Given the description of an element on the screen output the (x, y) to click on. 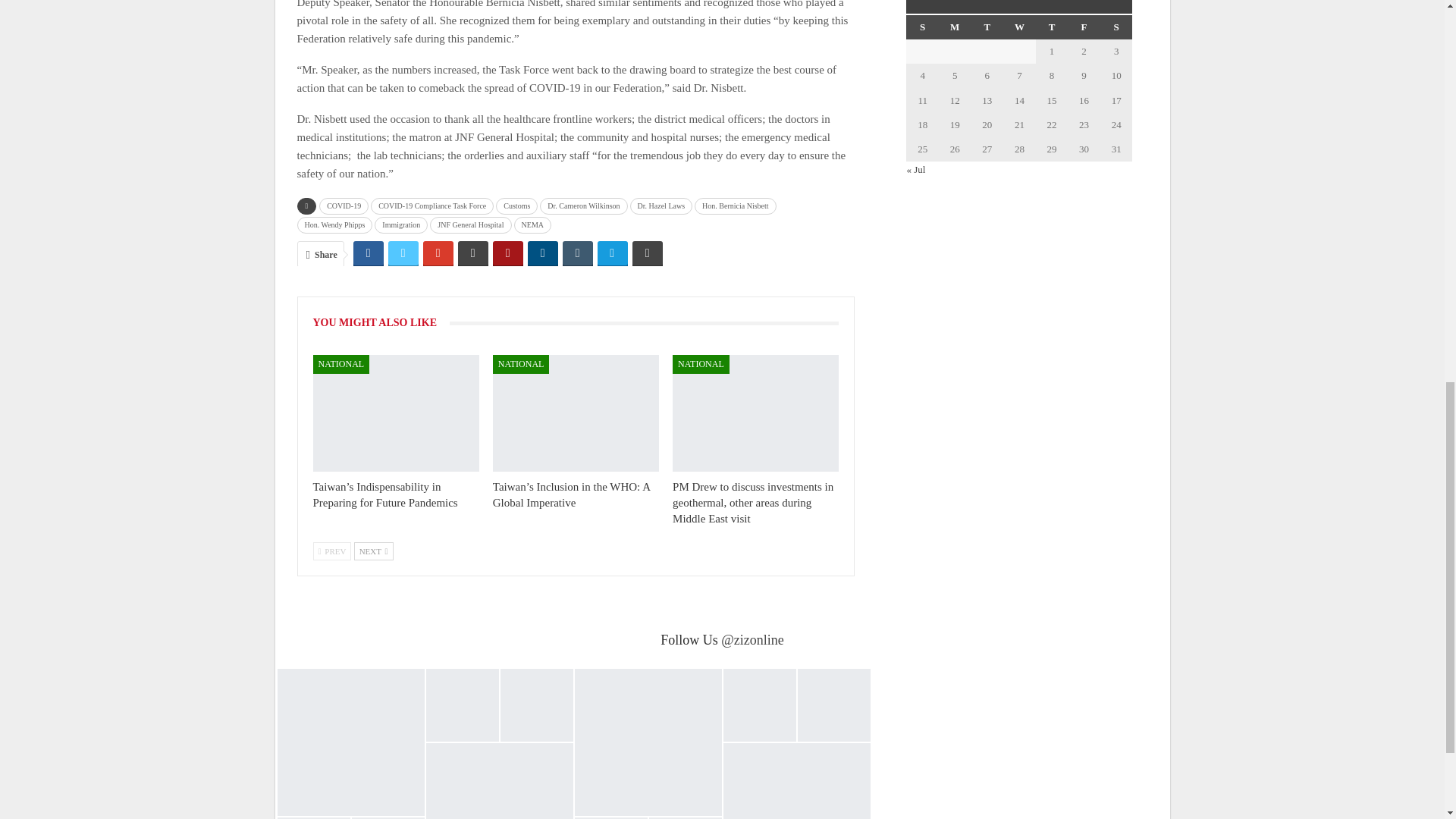
Next (373, 551)
Previous (331, 551)
Monday (955, 27)
Tuesday (987, 27)
Sunday (922, 27)
